Given the description of an element on the screen output the (x, y) to click on. 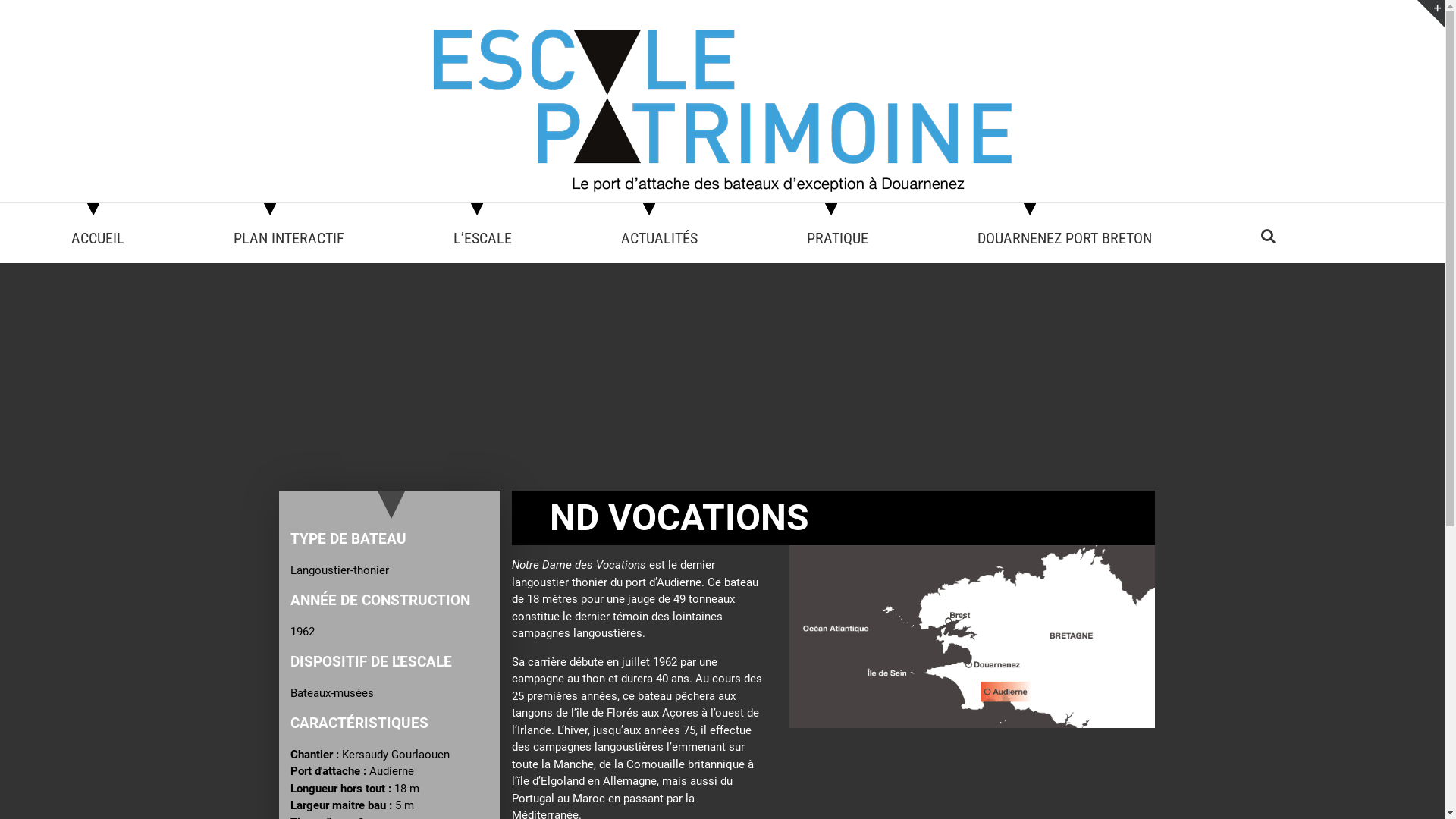
PLAN INTERACTIF Element type: text (294, 235)
ACCUEIL Element type: text (103, 235)
Toggle Sliding Bar Area Element type: text (1430, 13)
Search Element type: hover (1268, 234)
PRATIQUE Element type: text (842, 235)
DOUARNENEZ PORT BRETON Element type: text (1070, 235)
